Given the description of an element on the screen output the (x, y) to click on. 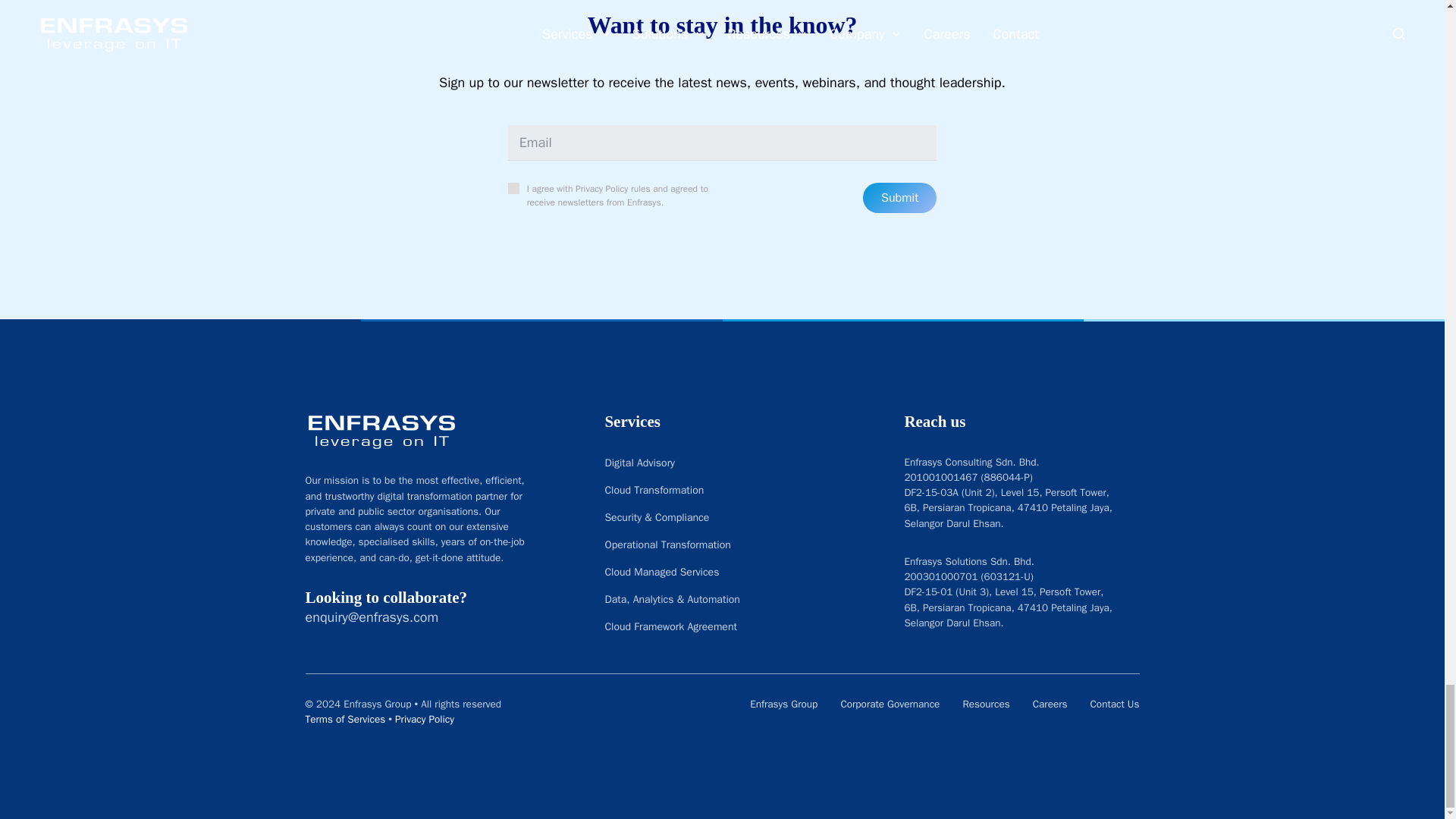
on (513, 188)
